Given the description of an element on the screen output the (x, y) to click on. 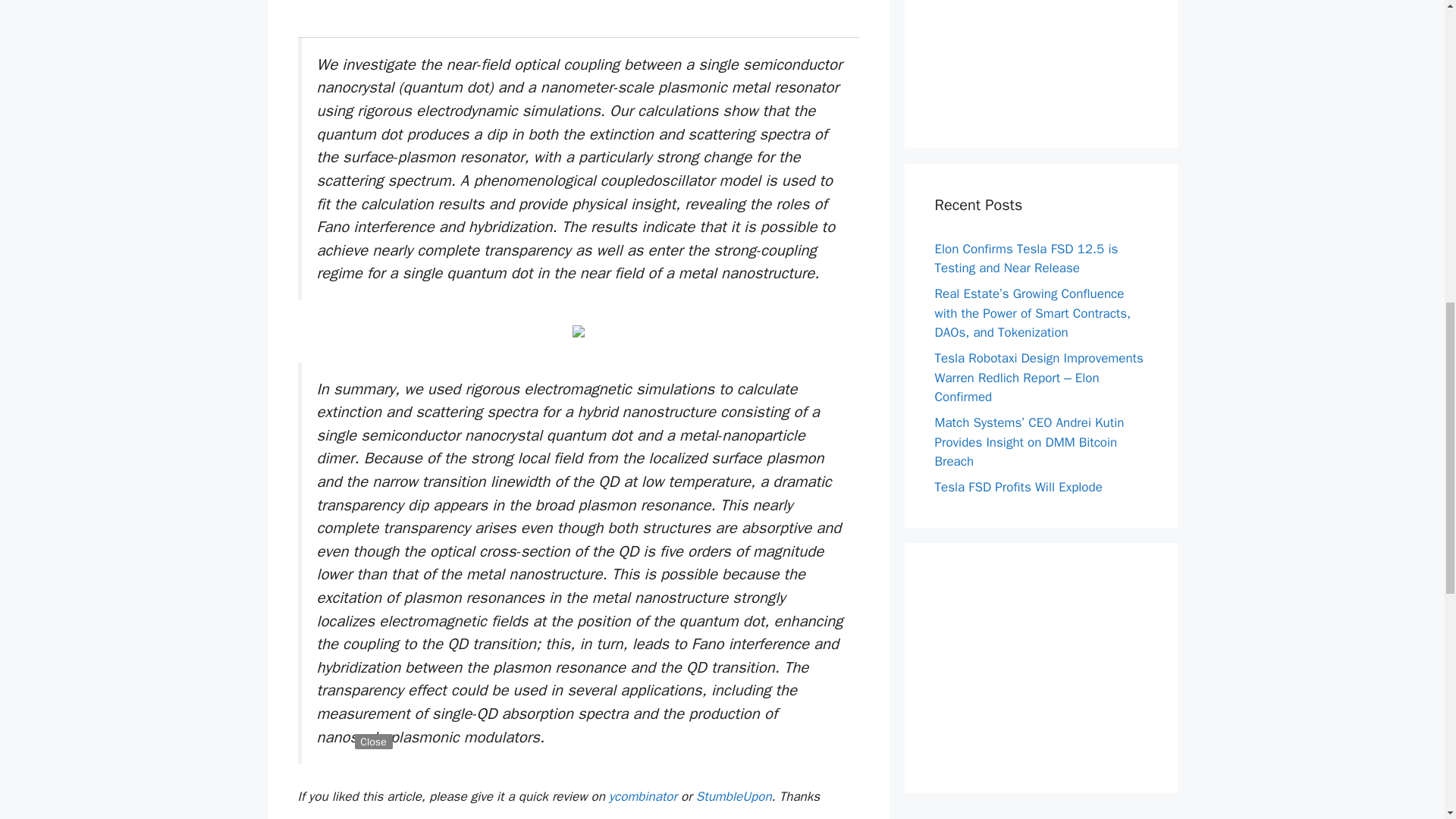
3rd party ad content (1040, 58)
Tesla FSD Profits Will Explode (1018, 487)
ycombinator (642, 796)
3rd party ad content (1040, 667)
3rd party ad content (577, 11)
Elon Confirms Tesla FSD 12.5 is Testing and Near Release (1026, 258)
StumbleUpon (733, 796)
